Given the description of an element on the screen output the (x, y) to click on. 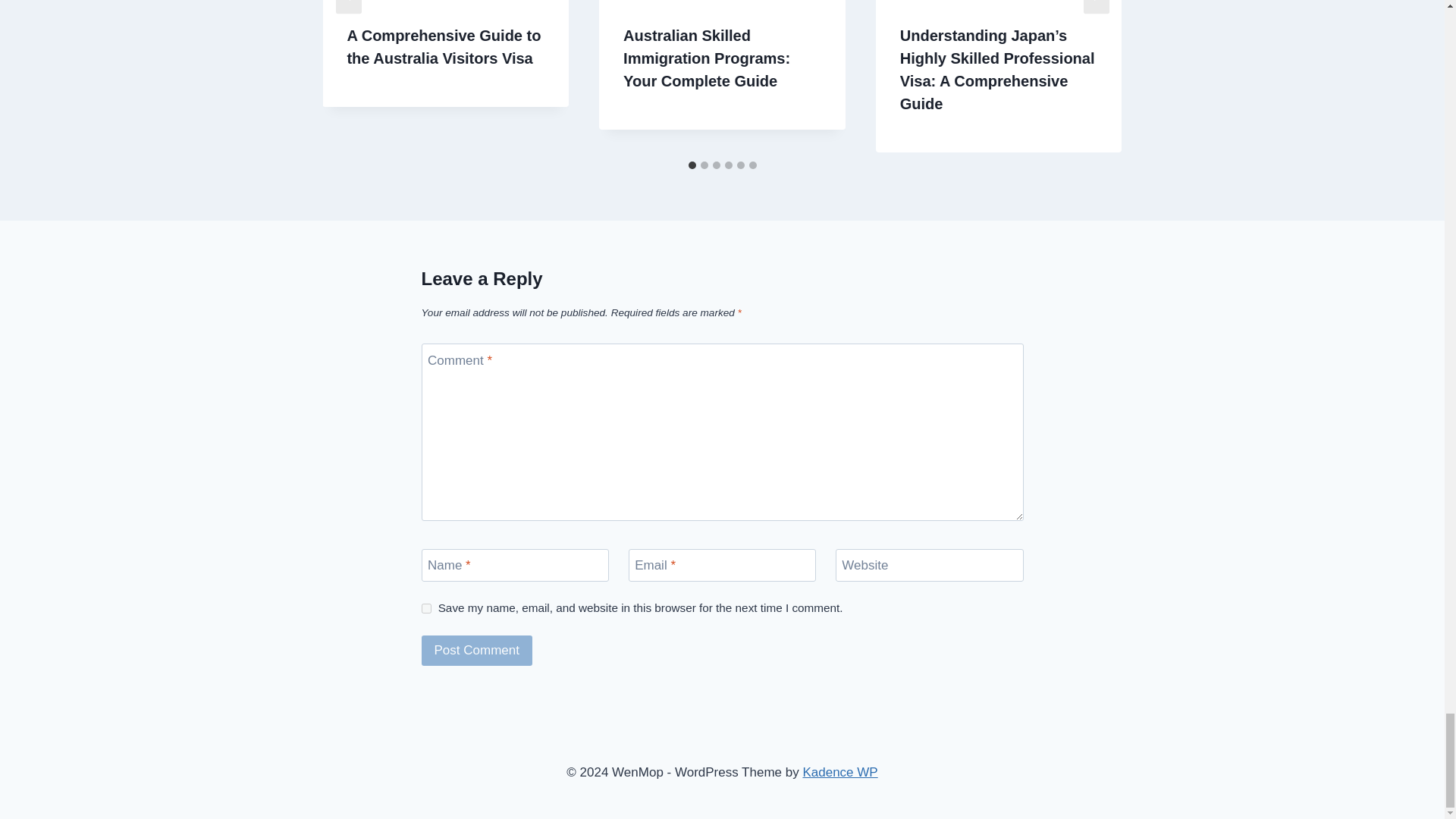
Post Comment (477, 650)
yes (426, 608)
